Given the description of an element on the screen output the (x, y) to click on. 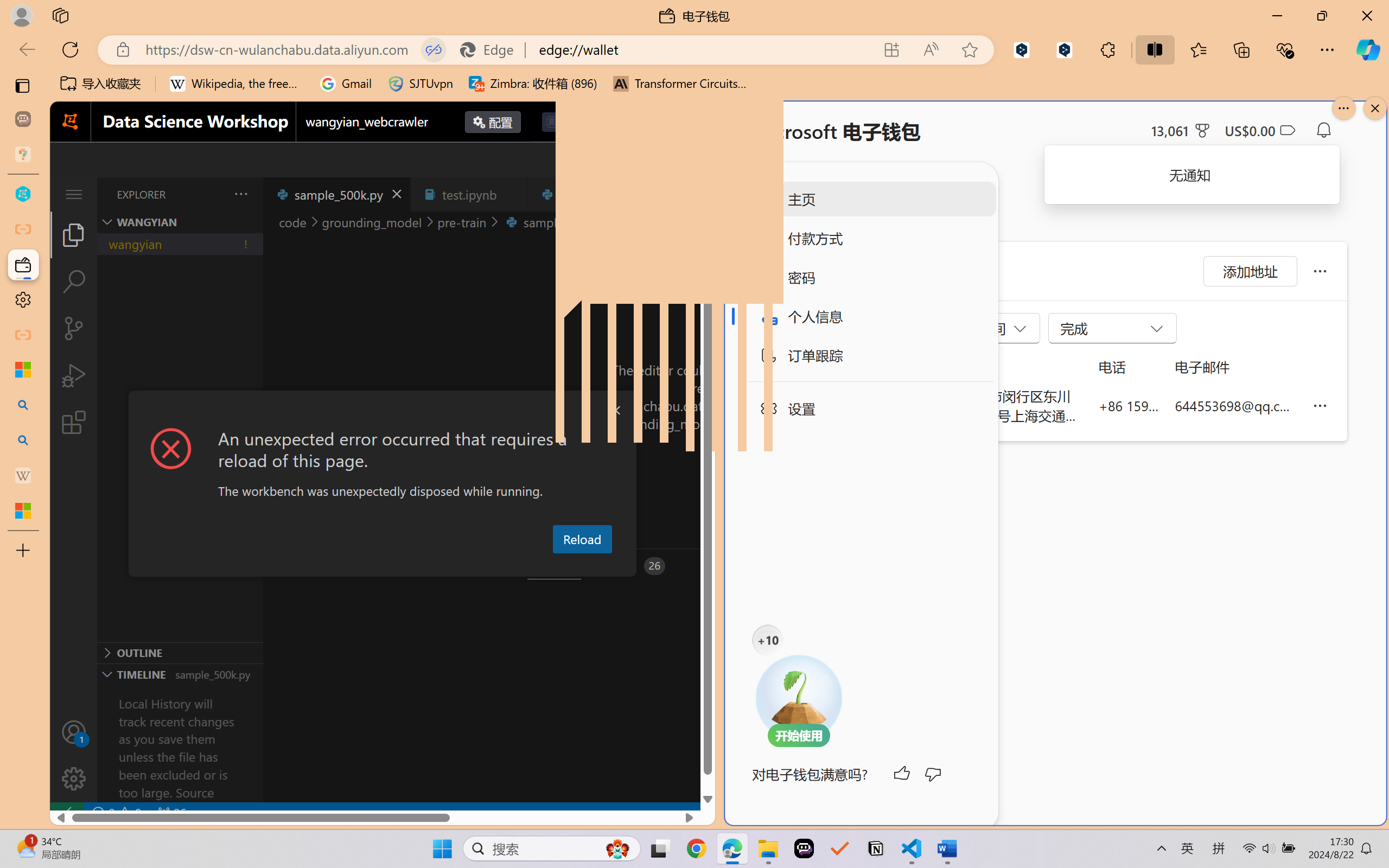
Terminal actions (1002, 565)
Wang Yian (914, 405)
Extensions (Ctrl+Shift+X) (73, 422)
WebIDE (698, 121)
+86 159 0032 4640 (1128, 405)
